Given the description of an element on the screen output the (x, y) to click on. 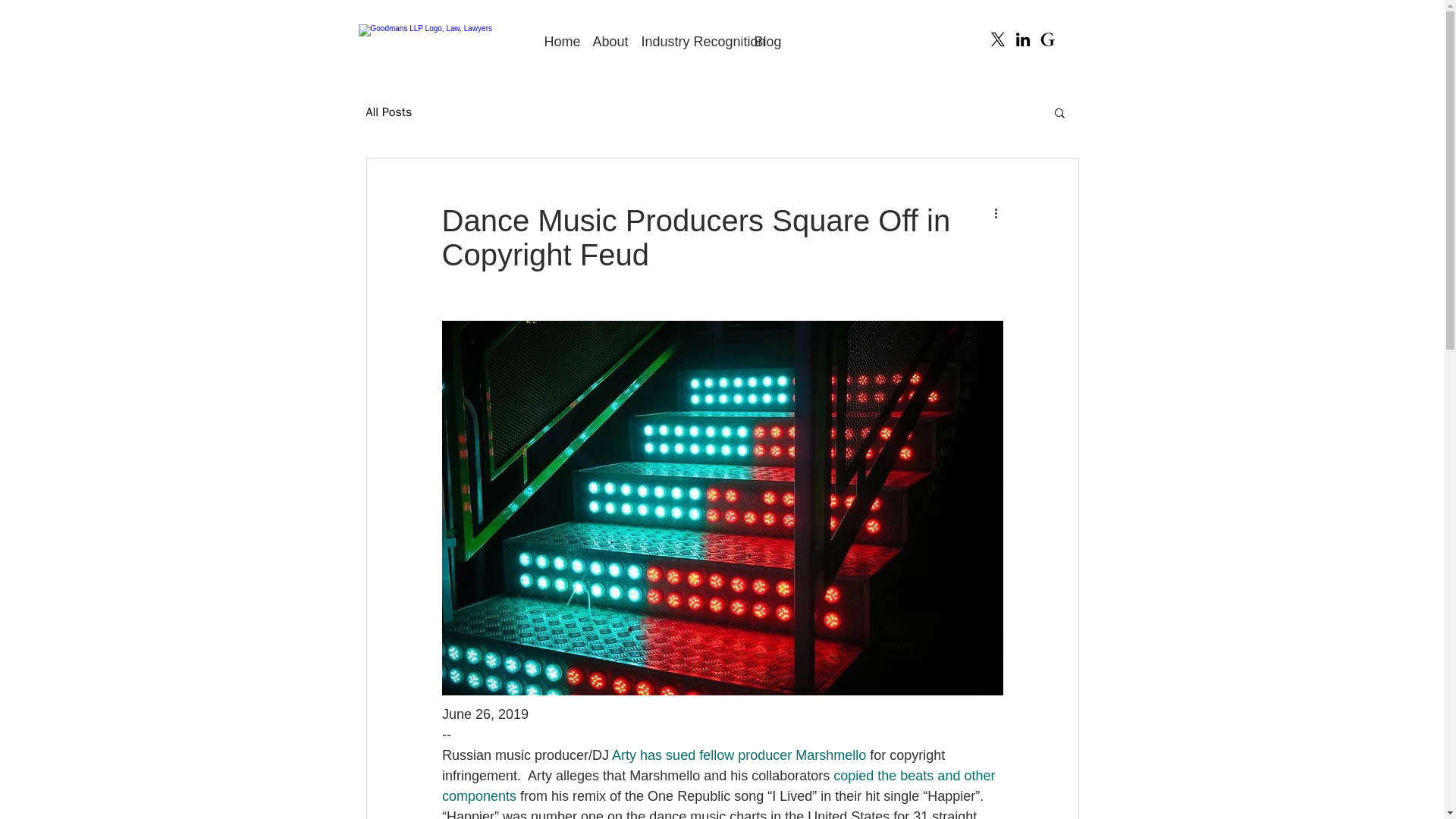
copied the beats and other components (719, 785)
All Posts (388, 112)
Home (555, 40)
Blog (764, 40)
Industry Recognition (684, 40)
Arty has sued fellow producer Marshmello (738, 754)
About (604, 40)
